Given the description of an element on the screen output the (x, y) to click on. 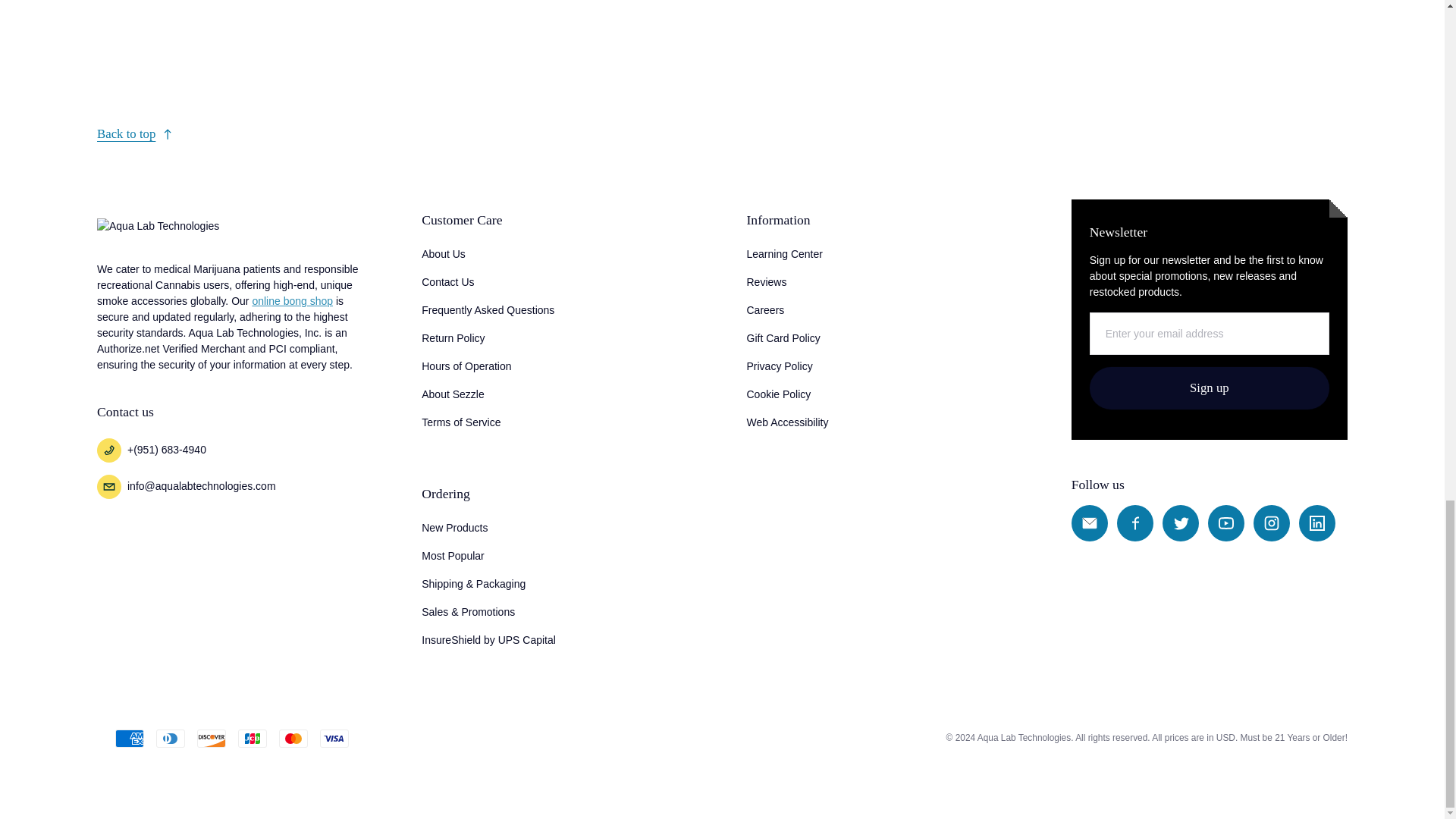
Youtube (1226, 523)
Twitter (1179, 523)
Instagram (1271, 523)
Linkedin (1316, 523)
